Given the description of an element on the screen output the (x, y) to click on. 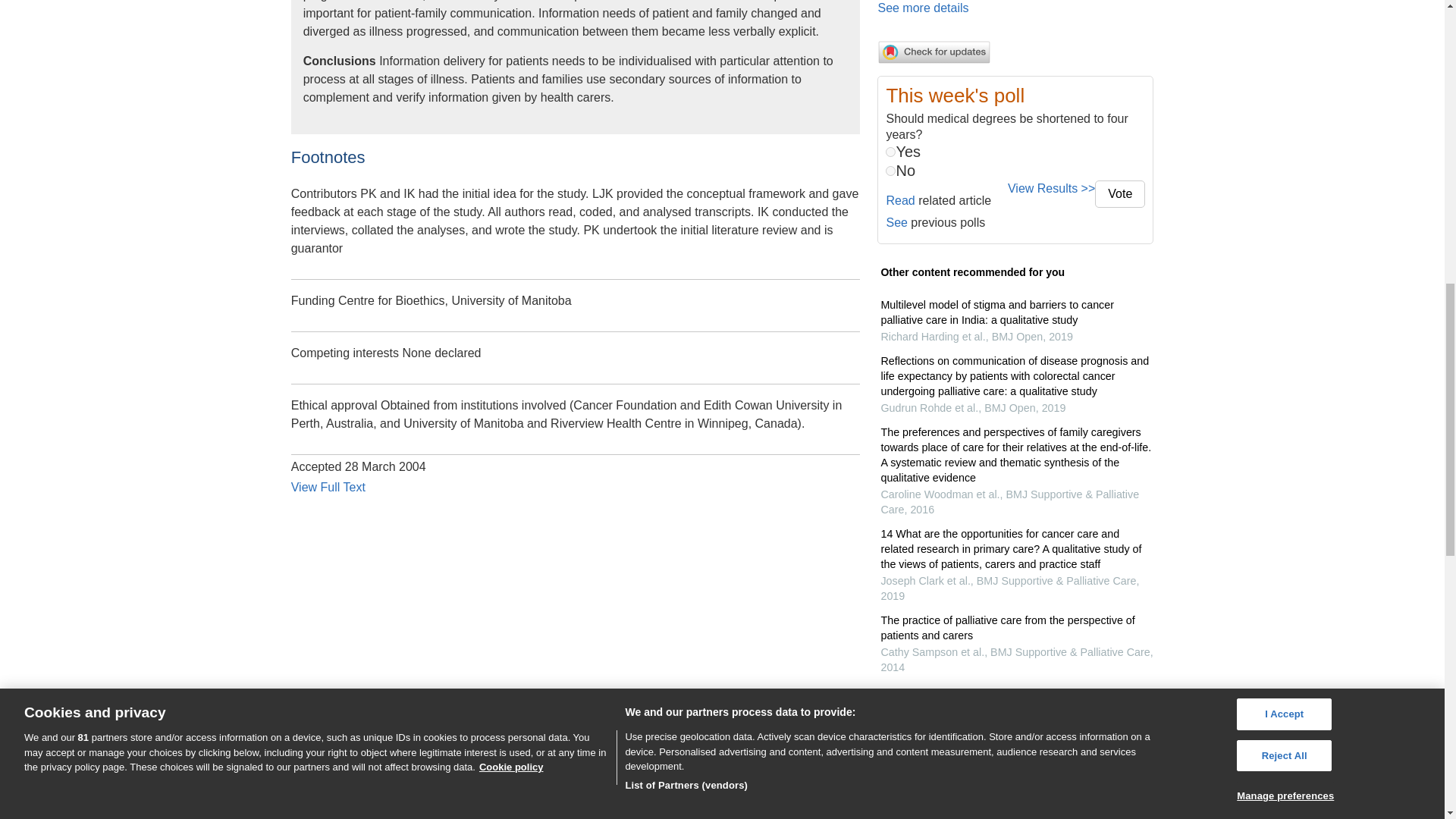
62238794 (890, 171)
62238793 (890, 152)
